Given the description of an element on the screen output the (x, y) to click on. 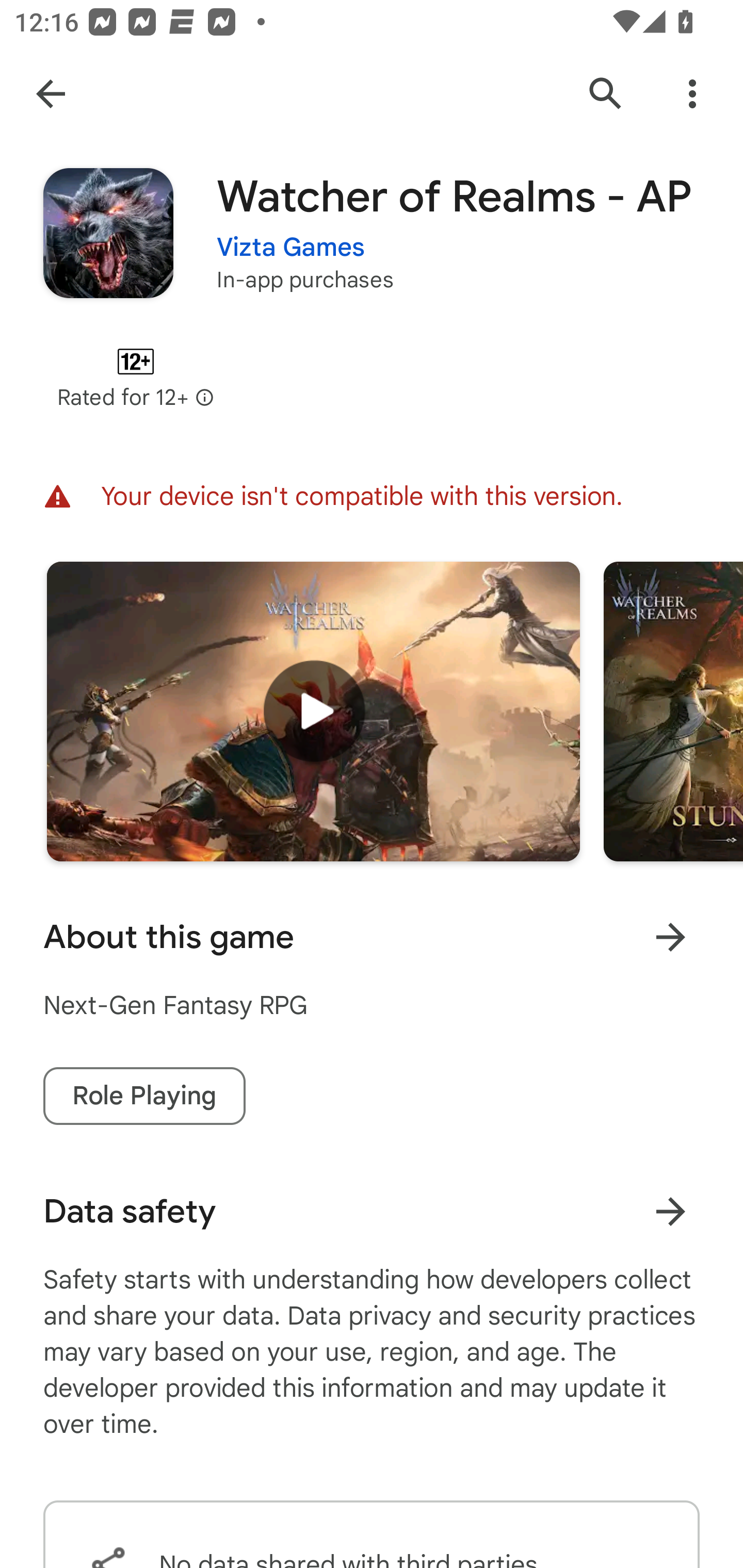
Navigate up (50, 93)
Search Google Play (605, 93)
More Options (692, 93)
Vizta Games (290, 233)
Content rating Rated for 12+ (135, 377)
Play trailer for "Watcher of Realms - AP" (313, 710)
About this game Learn more About this game (371, 936)
Learn more About this game (670, 936)
Role Playing tag (144, 1095)
Data safety Learn more about data safety (371, 1211)
Learn more about data safety (670, 1211)
